Given the description of an element on the screen output the (x, y) to click on. 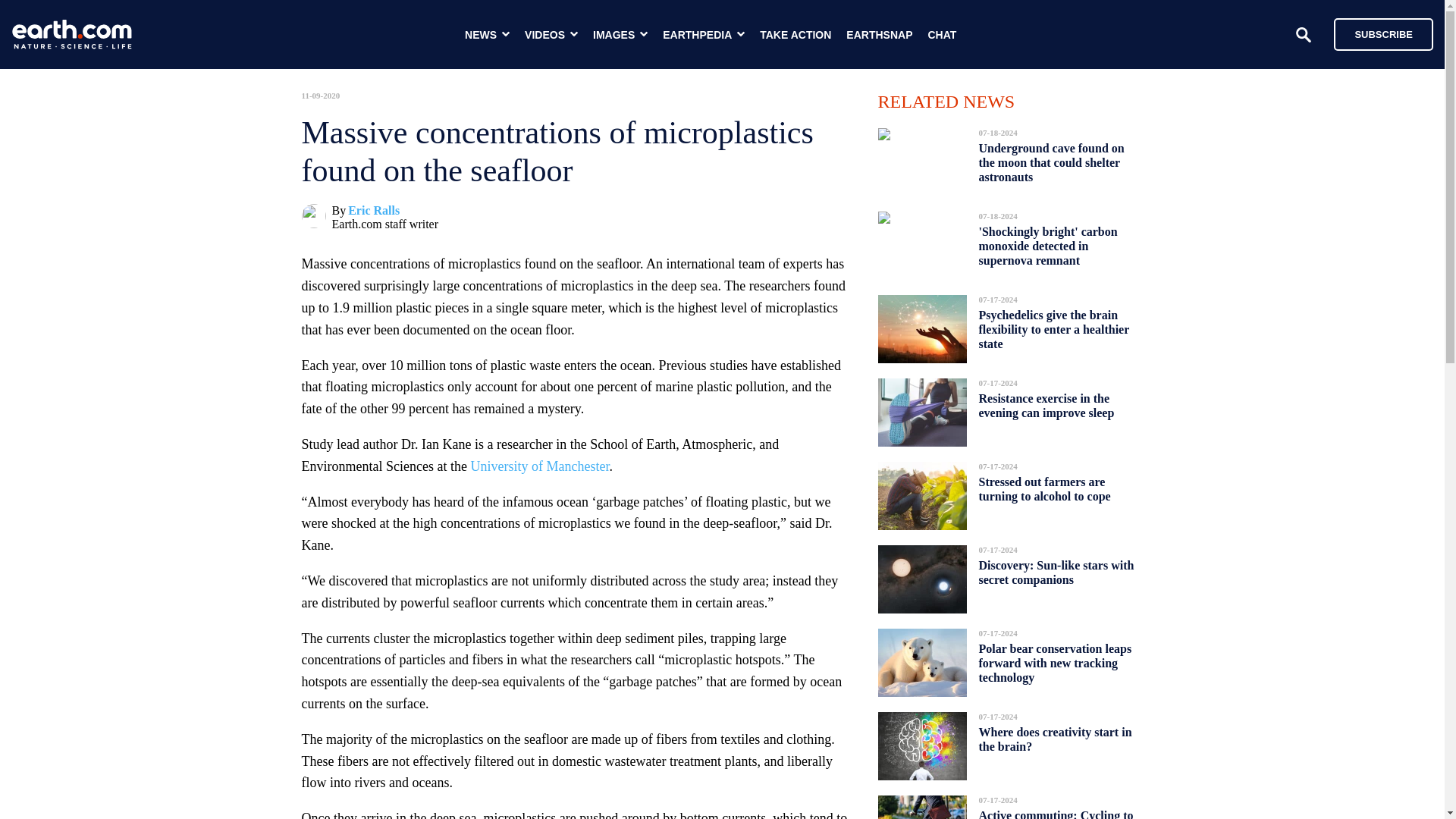
TAKE ACTION (795, 34)
CHAT (941, 34)
Where does creativity start in the brain? (1054, 739)
Resistance exercise in the evening can improve sleep (1045, 405)
Eric Ralls (372, 210)
Stressed out farmers are turning to alcohol to cope (1043, 488)
EARTHSNAP (878, 34)
University of Manchester (539, 466)
Discovery: Sun-like stars with secret companions (1056, 572)
SUBSCRIBE (1382, 34)
SUBSCRIBE (1375, 33)
